Given the description of an element on the screen output the (x, y) to click on. 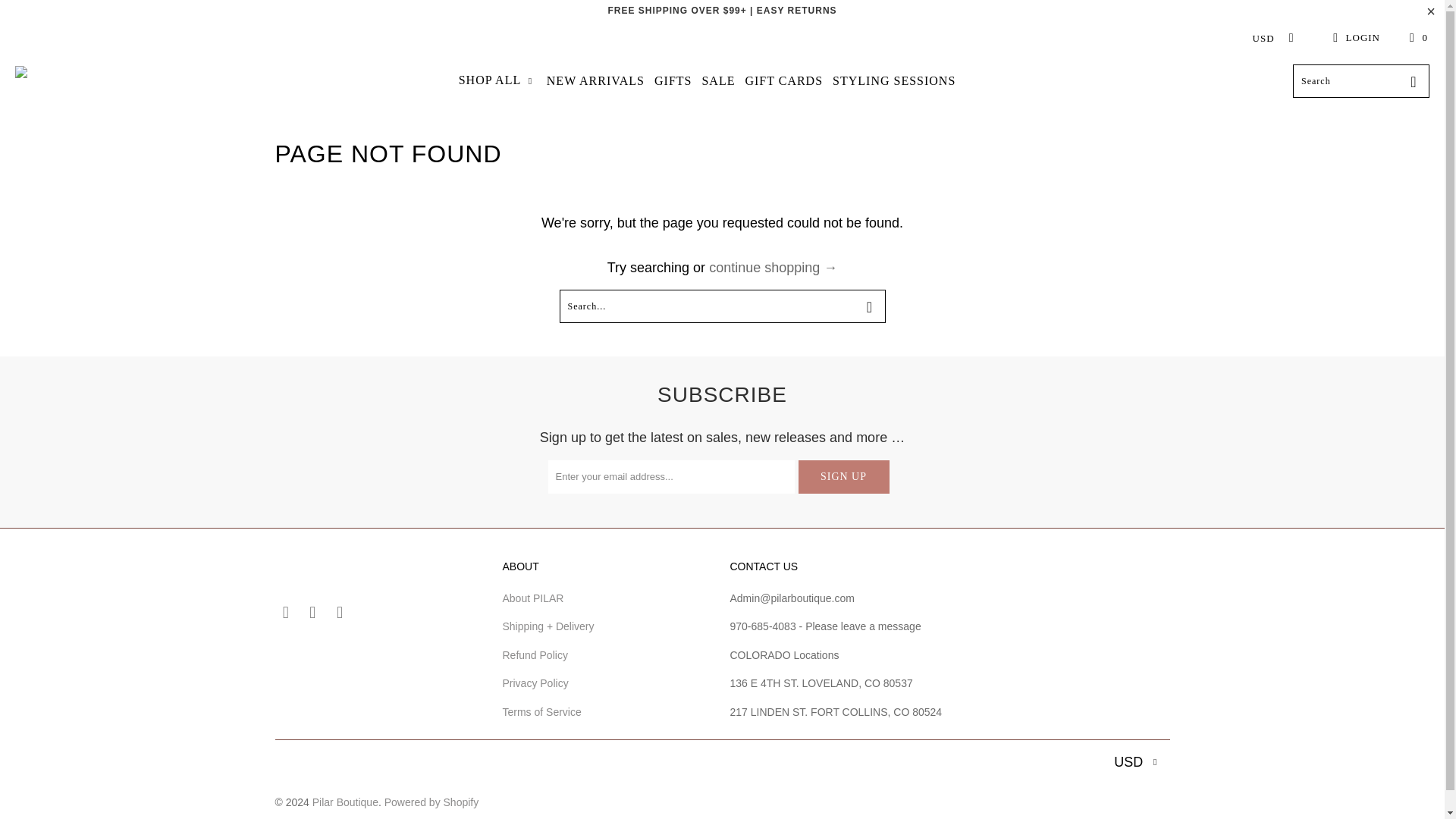
Sign Up (842, 476)
My Account  (1353, 38)
Pilar Boutique (67, 81)
